Given the description of an element on the screen output the (x, y) to click on. 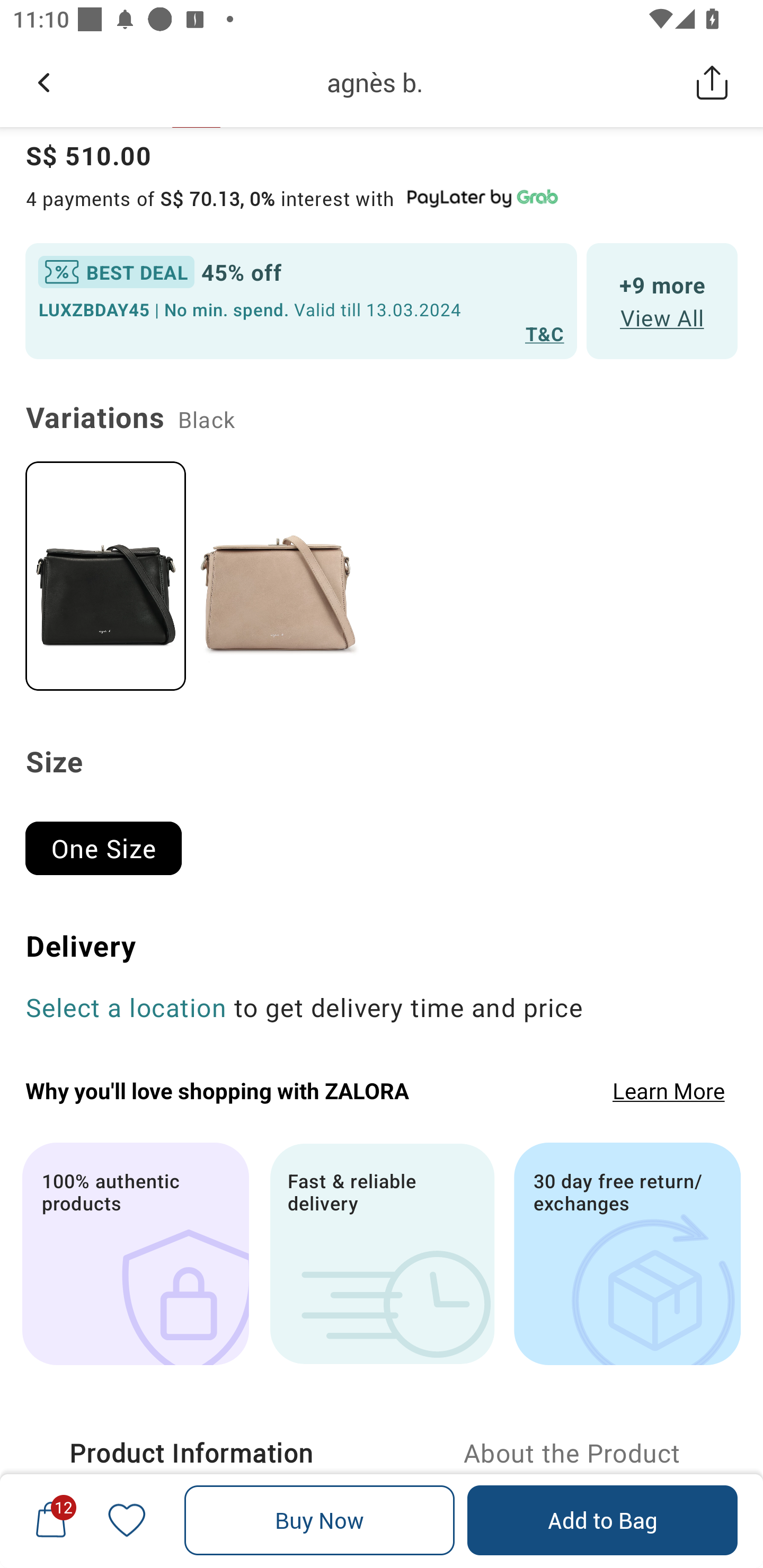
agnès b. (375, 82)
Share this Product (711, 82)
+9 more
View All (661, 301)
T&C (544, 332)
One Size (111, 840)
Learn More (668, 1090)
100% authentic products (135, 1253)
Fast & reliable delivery (381, 1253)
30 day free return/exchanges (627, 1253)
About the Product (572, 1452)
Buy Now (319, 1519)
Add to Bag (601, 1519)
12 (50, 1520)
